Given the description of an element on the screen output the (x, y) to click on. 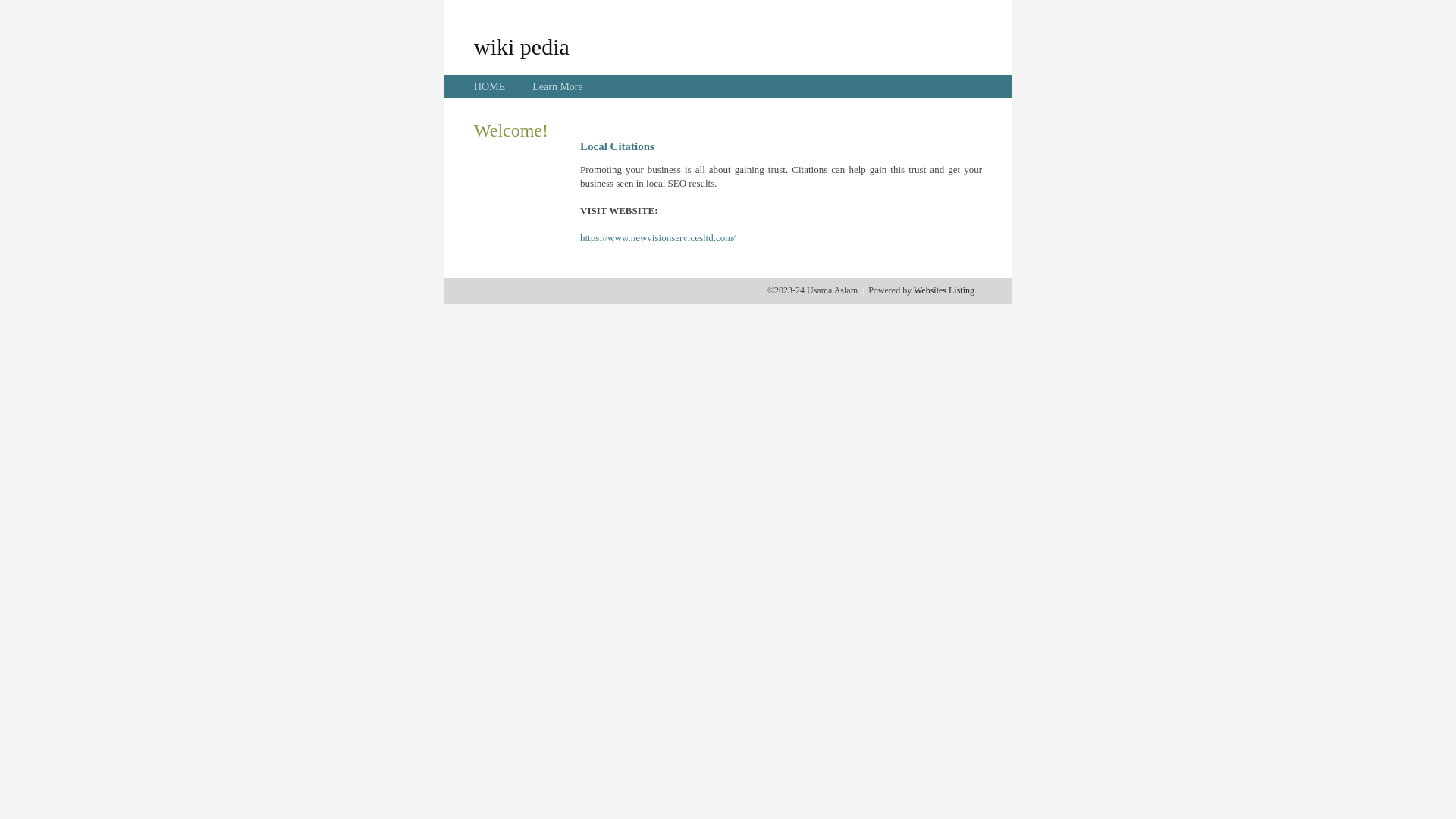
Learn More Element type: text (557, 86)
https://www.newvisionservicesltd.com/ Element type: text (657, 237)
HOME Element type: text (489, 86)
Websites Listing Element type: text (943, 290)
wiki pedia Element type: text (521, 46)
